Given the description of an element on the screen output the (x, y) to click on. 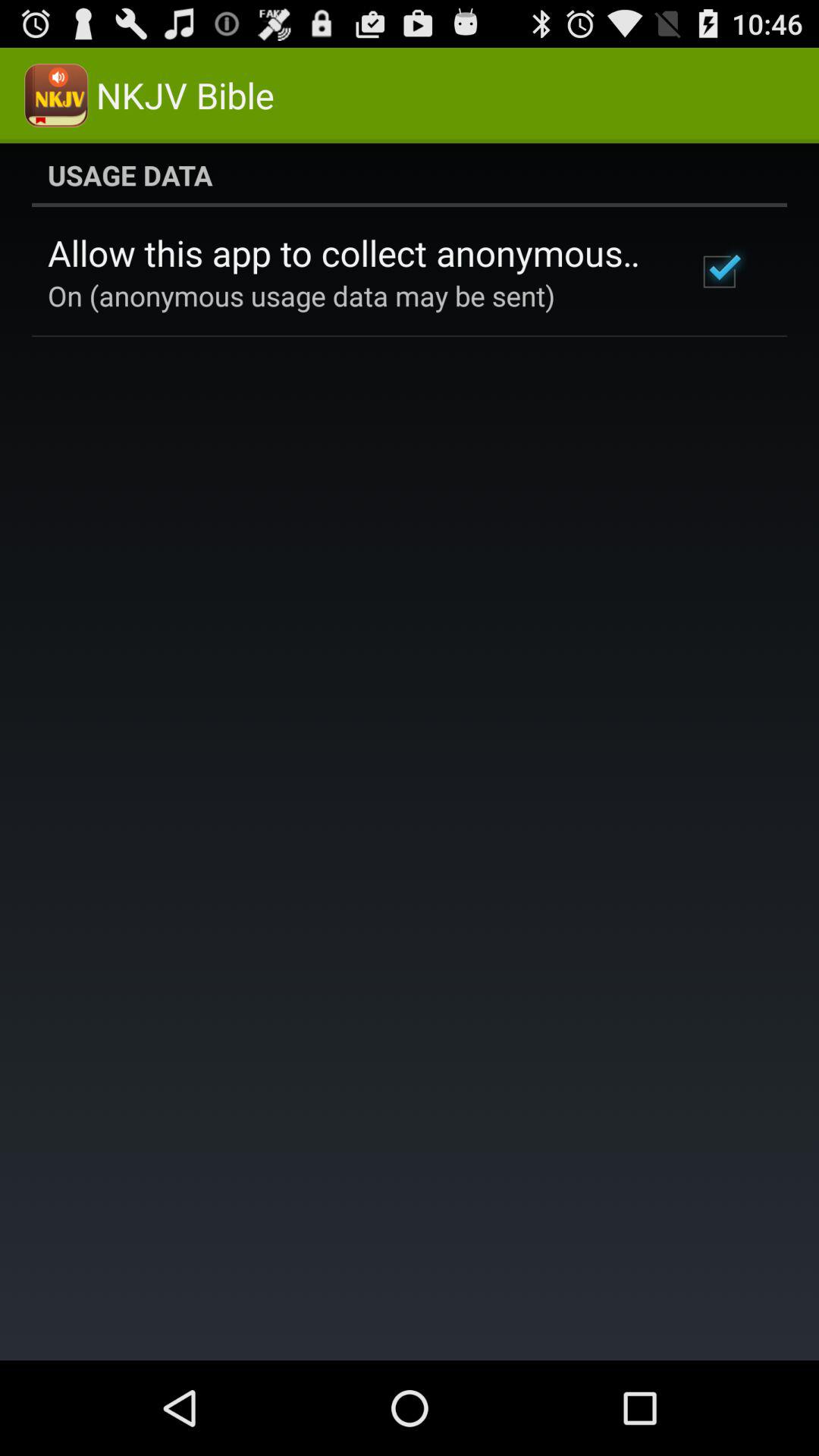
launch item below usage data (719, 271)
